Given the description of an element on the screen output the (x, y) to click on. 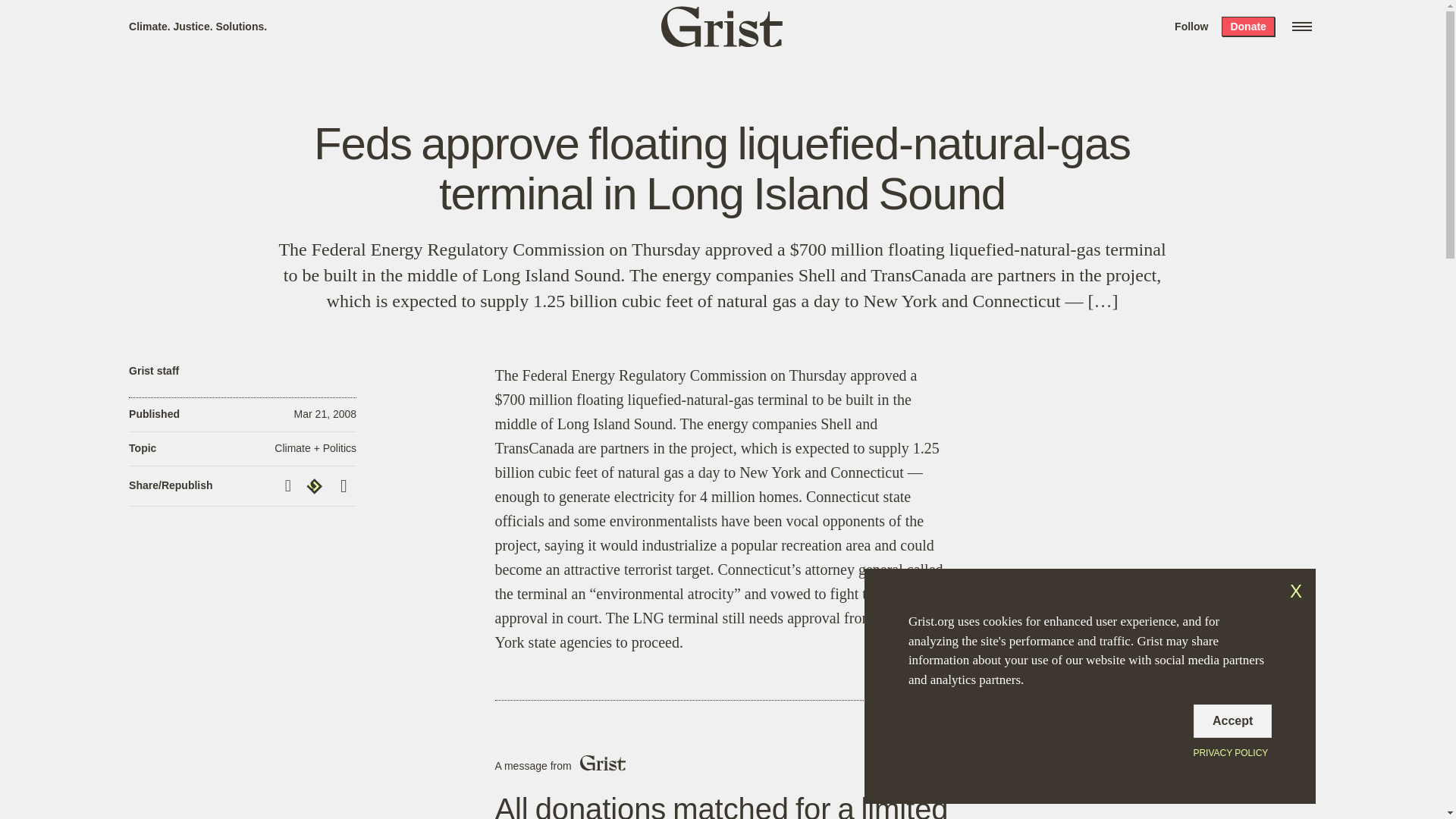
Accept (1232, 720)
Republish the article (316, 485)
Search (227, 18)
Copy article link (289, 485)
Donate (1247, 26)
Follow (1191, 26)
Grist home (722, 25)
Grist staff (154, 370)
